Given the description of an element on the screen output the (x, y) to click on. 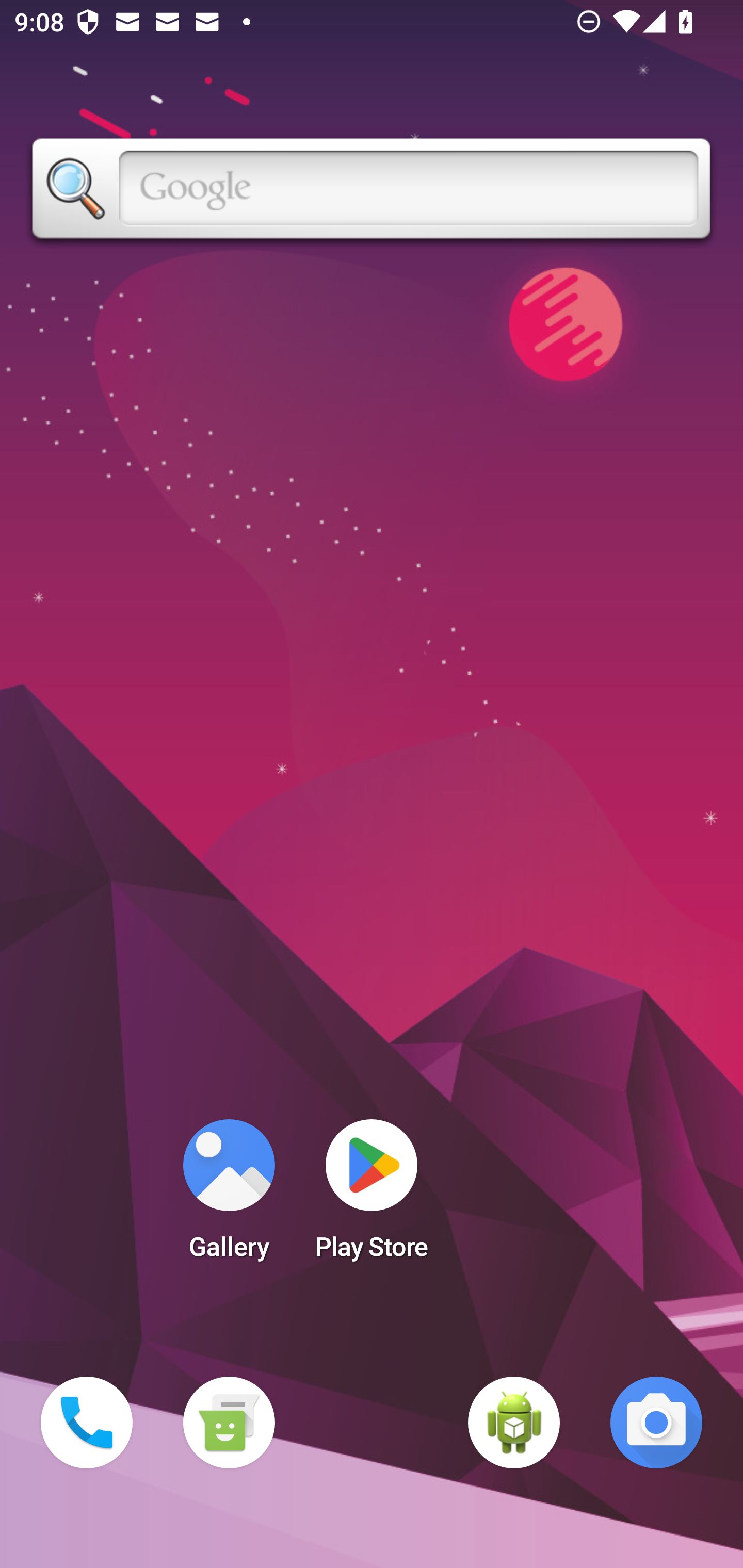
Gallery (228, 1195)
Play Store (371, 1195)
Phone (86, 1422)
Messaging (228, 1422)
WebView Browser Tester (513, 1422)
Camera (656, 1422)
